Given the description of an element on the screen output the (x, y) to click on. 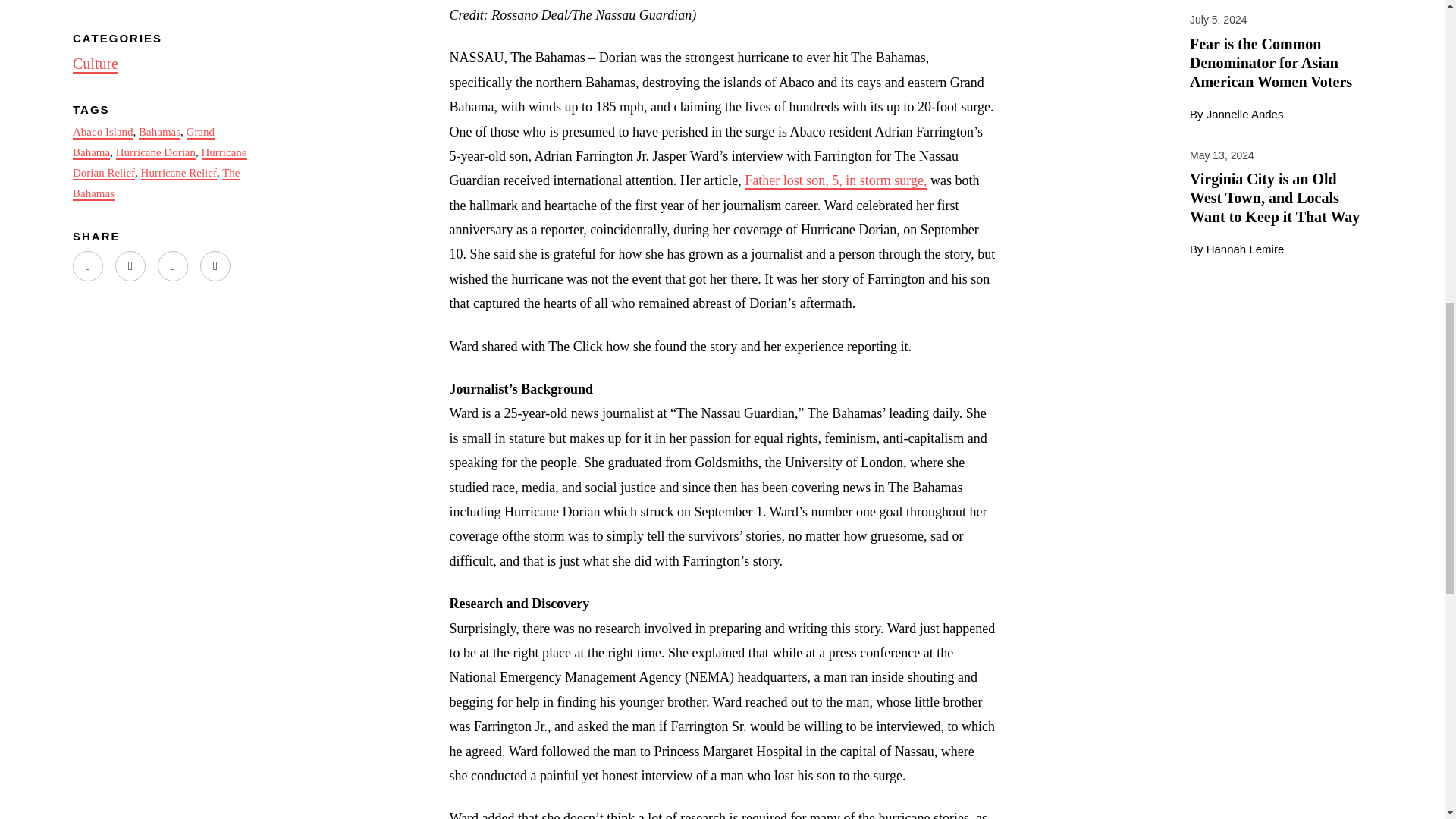
Share to Facebook (172, 265)
Abaco Island (102, 132)
Hurricane Dorian Relief (159, 163)
Hurricane Relief (178, 173)
Bahamas (159, 132)
Share to Linkedin (130, 265)
Culture (94, 64)
Hurricane Dorian (155, 152)
Share to Twitter (87, 265)
Grand Bahama (143, 142)
Email this article (215, 265)
